Given the description of an element on the screen output the (x, y) to click on. 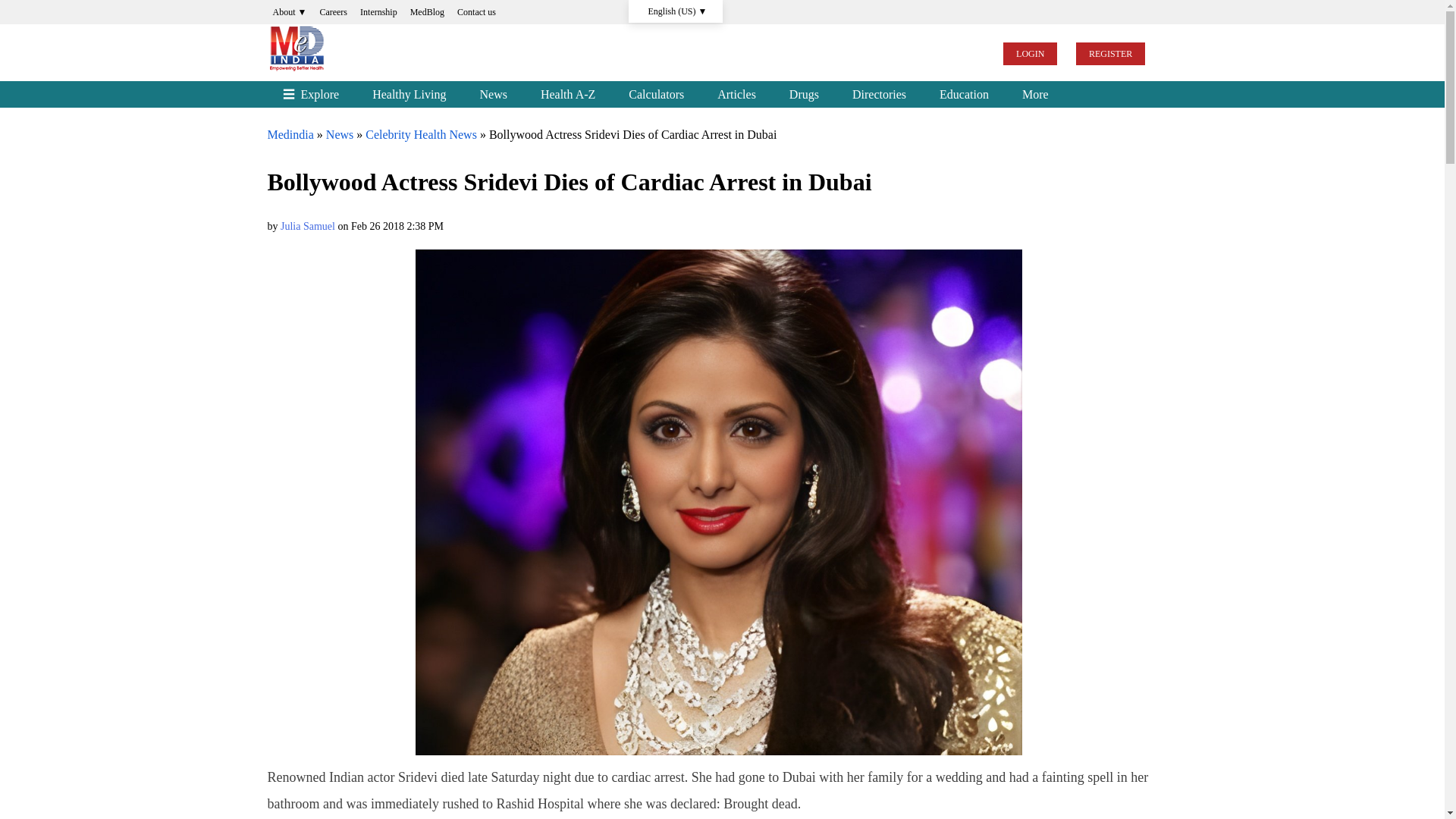
News (339, 133)
Healthy Living (408, 93)
Health A-Z (567, 93)
Medindia (289, 133)
MedBlog (426, 11)
Celebrity Health News (421, 133)
Julia Samuel (307, 225)
Contact us (475, 11)
Drugs (804, 93)
Careers (333, 11)
